Given the description of an element on the screen output the (x, y) to click on. 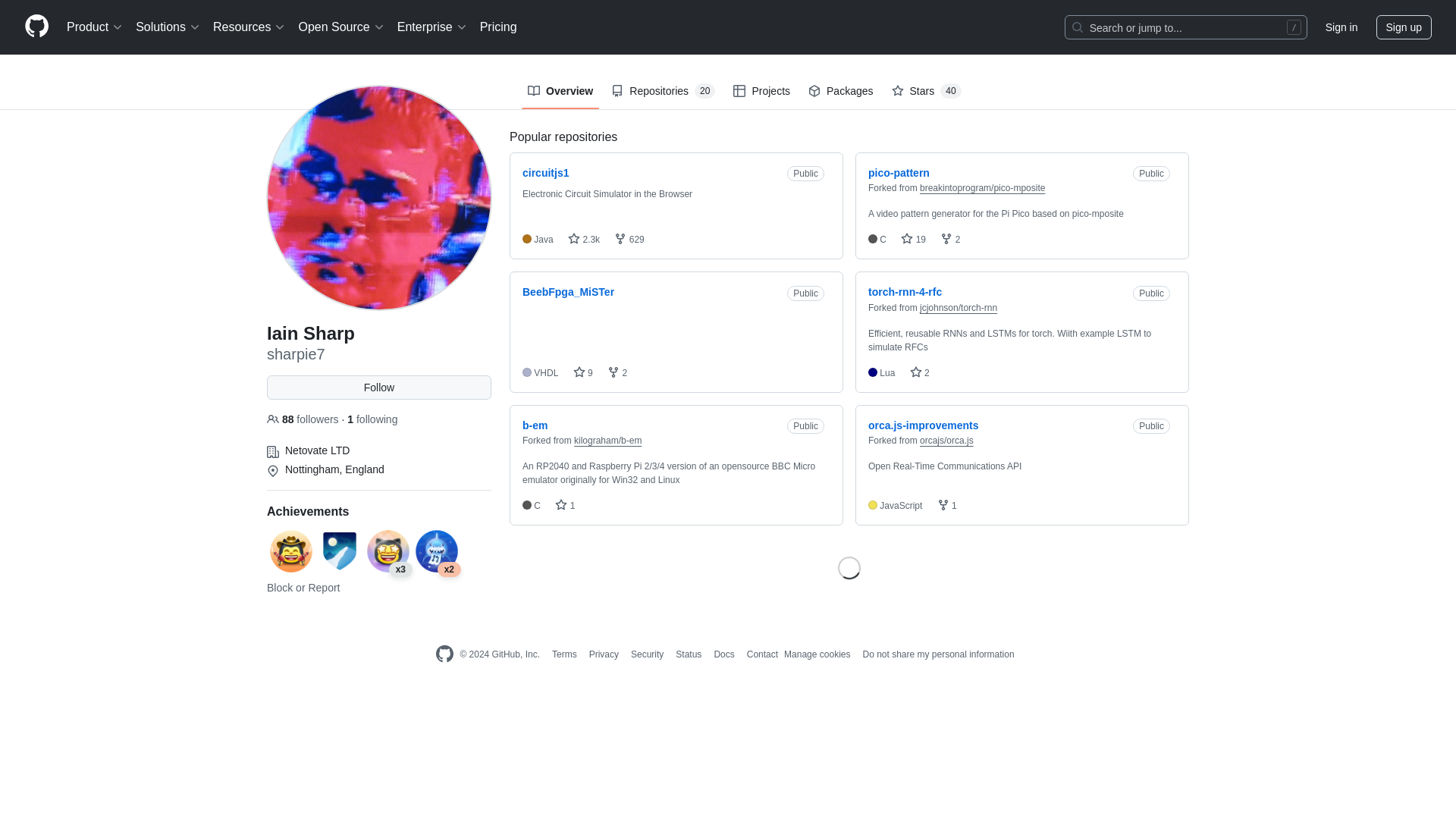
Product (95, 27)
40 (950, 90)
Solutions (167, 27)
Resources (249, 27)
20 (704, 90)
GitHub (443, 654)
Open Source (341, 27)
